Given the description of an element on the screen output the (x, y) to click on. 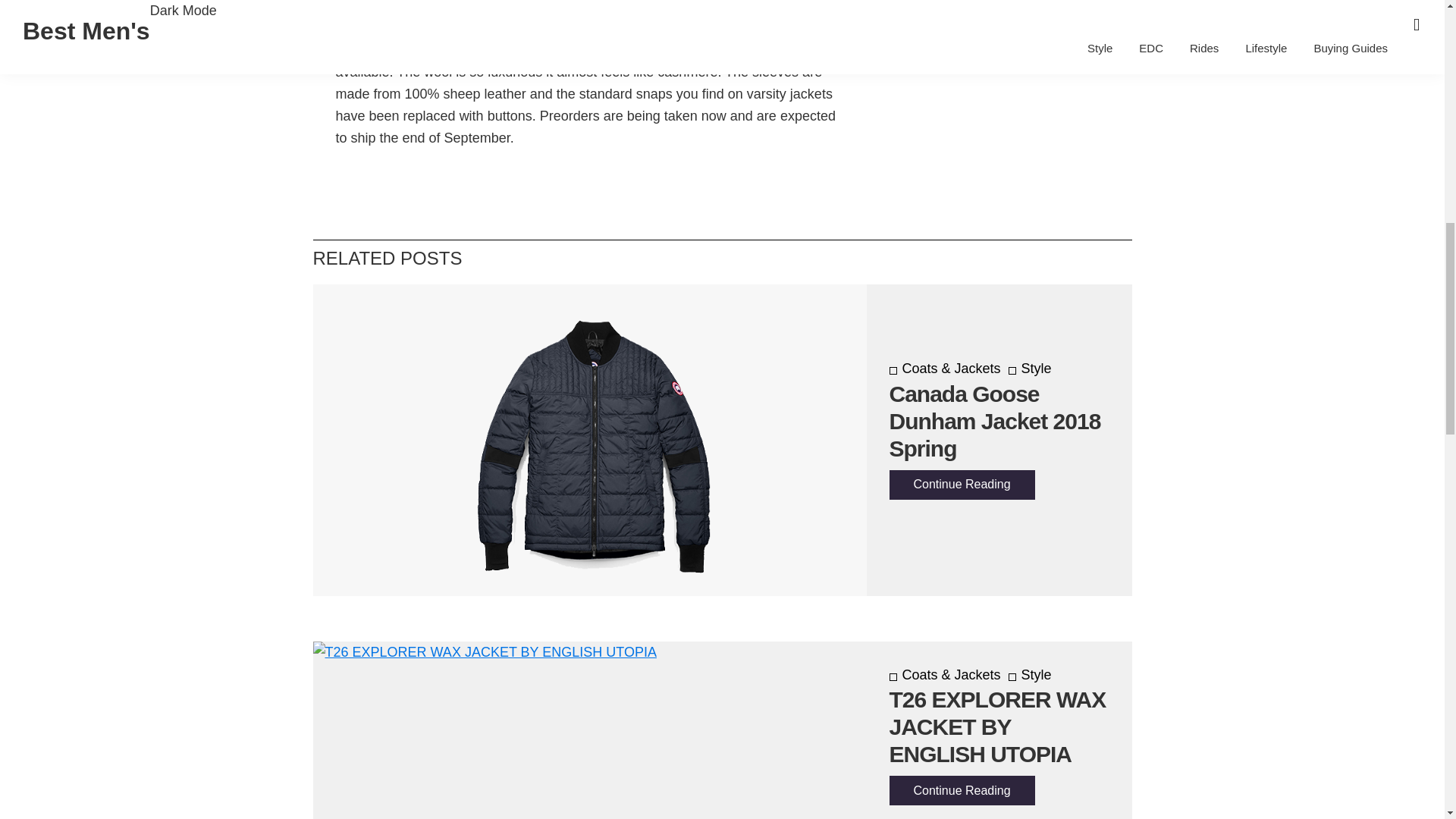
Continue Reading (960, 790)
Style (1030, 674)
Style (1030, 368)
Continue Reading (960, 484)
T26 EXPLORER WAX JACKET BY ENGLISH UTOPIA (996, 726)
Canada Goose Dunham Jacket 2018 Spring (994, 421)
